Given the description of an element on the screen output the (x, y) to click on. 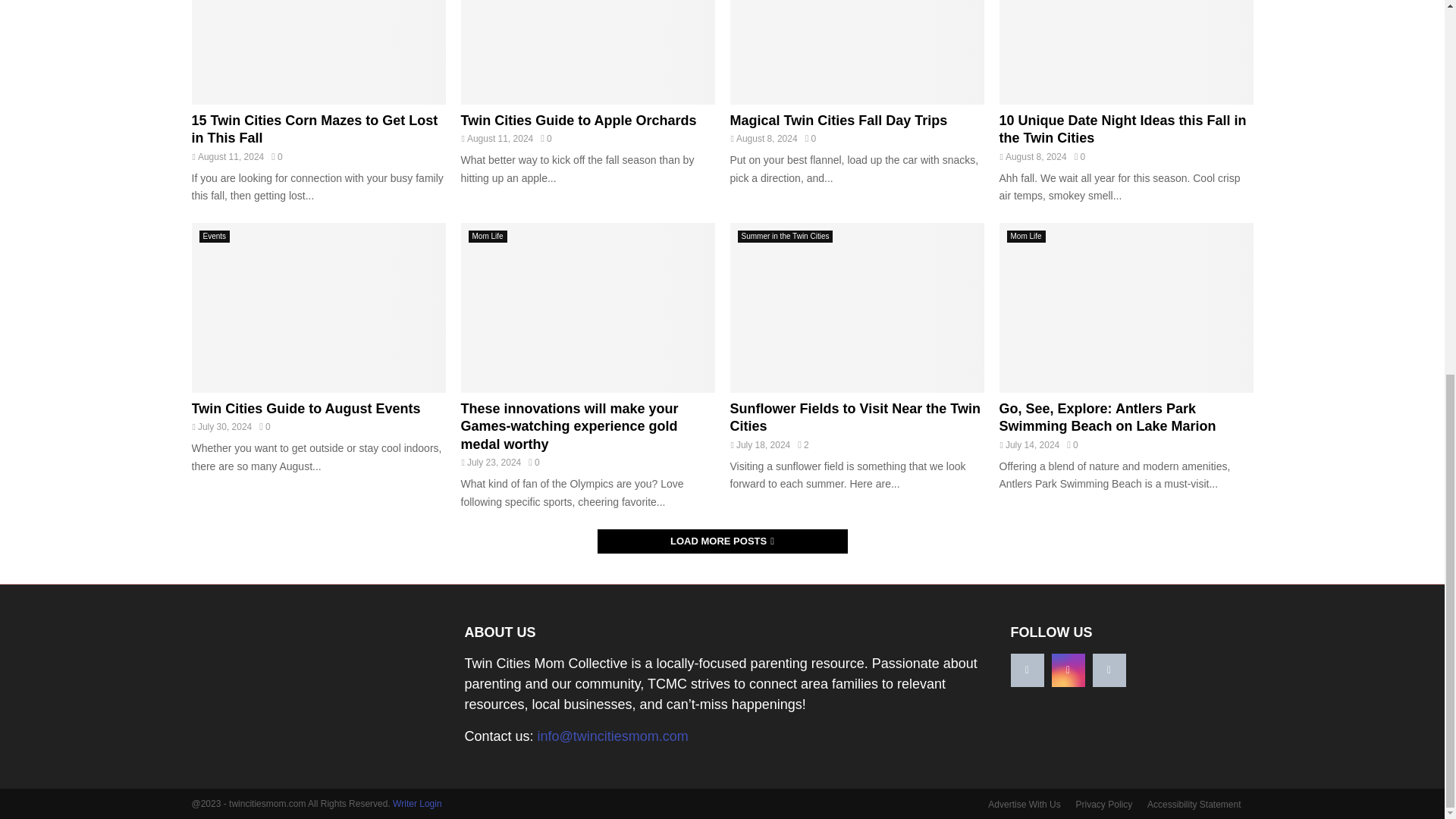
Twin Cities Guide to Apple Orchards (587, 52)
 Twin Cities Guide to Apple Orchards  (579, 120)
 15 Twin Cities Corn Mazes to Get Lost in This Fall  (314, 129)
15 Twin Cities Corn Mazes to Get Lost in This Fall (317, 52)
 10 Unique Date Night Ideas this Fall in the Twin Cities  (1122, 129)
10 Unique Date Night Ideas this Fall in the Twin Cities (1125, 52)
 Magical Twin Cities Fall Day Trips  (838, 120)
Magical Twin Cities Fall Day Trips (856, 52)
